Given the description of an element on the screen output the (x, y) to click on. 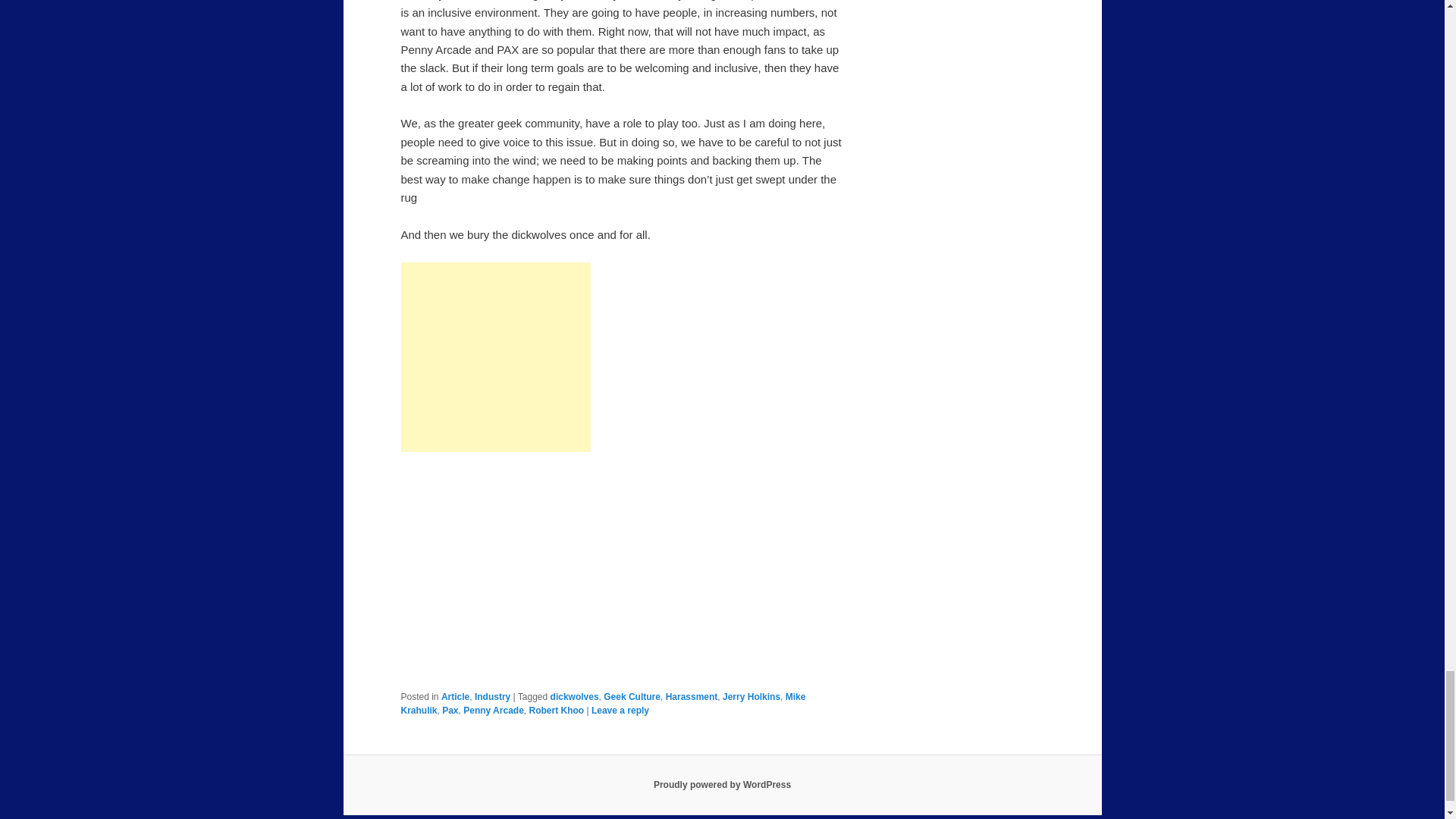
Penny Arcade (493, 710)
Robert Khoo (555, 710)
Pax (450, 710)
Harassment (691, 696)
Industry (492, 696)
Mike Krahulik (602, 703)
Jerry Holkins (751, 696)
Geek Culture (632, 696)
Leave a reply (620, 710)
dickwolves (574, 696)
Article (454, 696)
Semantic Personal Publishing Platform (721, 784)
